Given the description of an element on the screen output the (x, y) to click on. 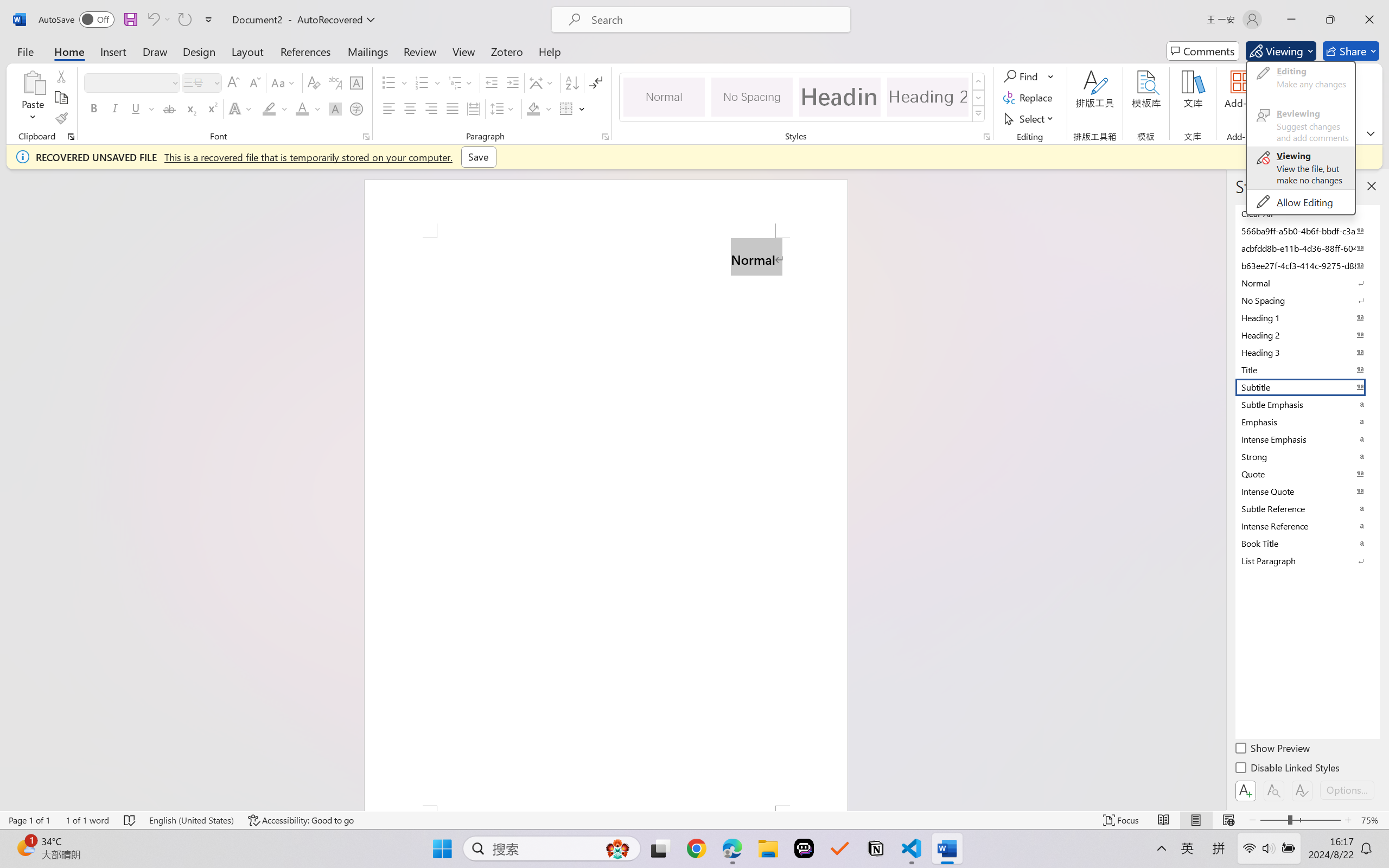
Emphasis (1306, 421)
Shrink Font (253, 82)
Align Right (431, 108)
Decrease Indent (491, 82)
Normal (1306, 282)
No Spacing (1306, 300)
Copy (60, 97)
Class: NetUIScrollBar (1219, 489)
